Given the description of an element on the screen output the (x, y) to click on. 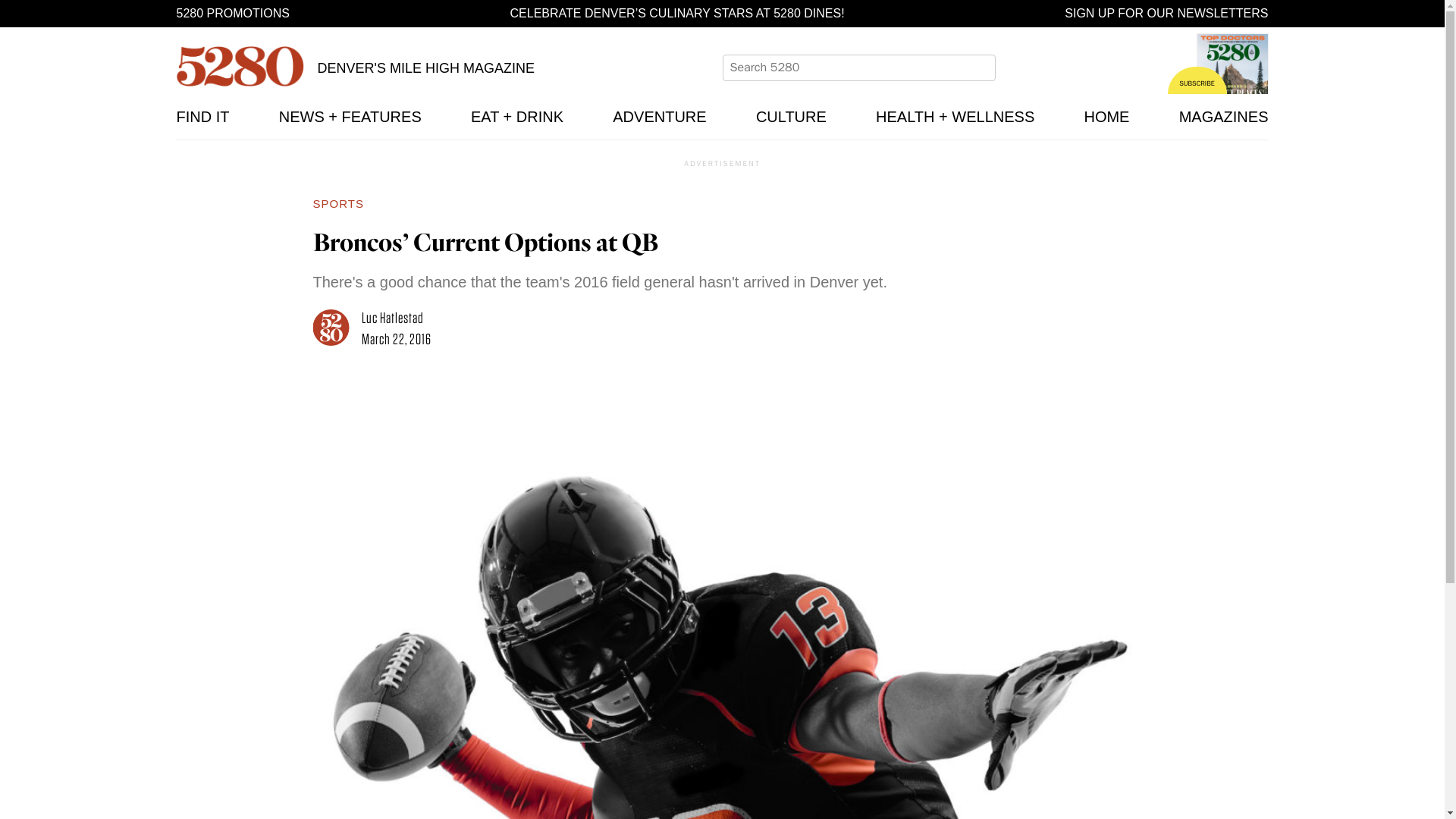
5280 PROMOTIONS (232, 13)
View Author Archive (337, 328)
ADVENTURE (659, 116)
CULTURE (791, 116)
SUBSCRIBE (1197, 80)
FIND IT (202, 116)
Luc Hatlestad's Archive (392, 317)
SIGN UP FOR OUR NEWSLETTERS (1166, 13)
5280 Magazine (239, 65)
